Given the description of an element on the screen output the (x, y) to click on. 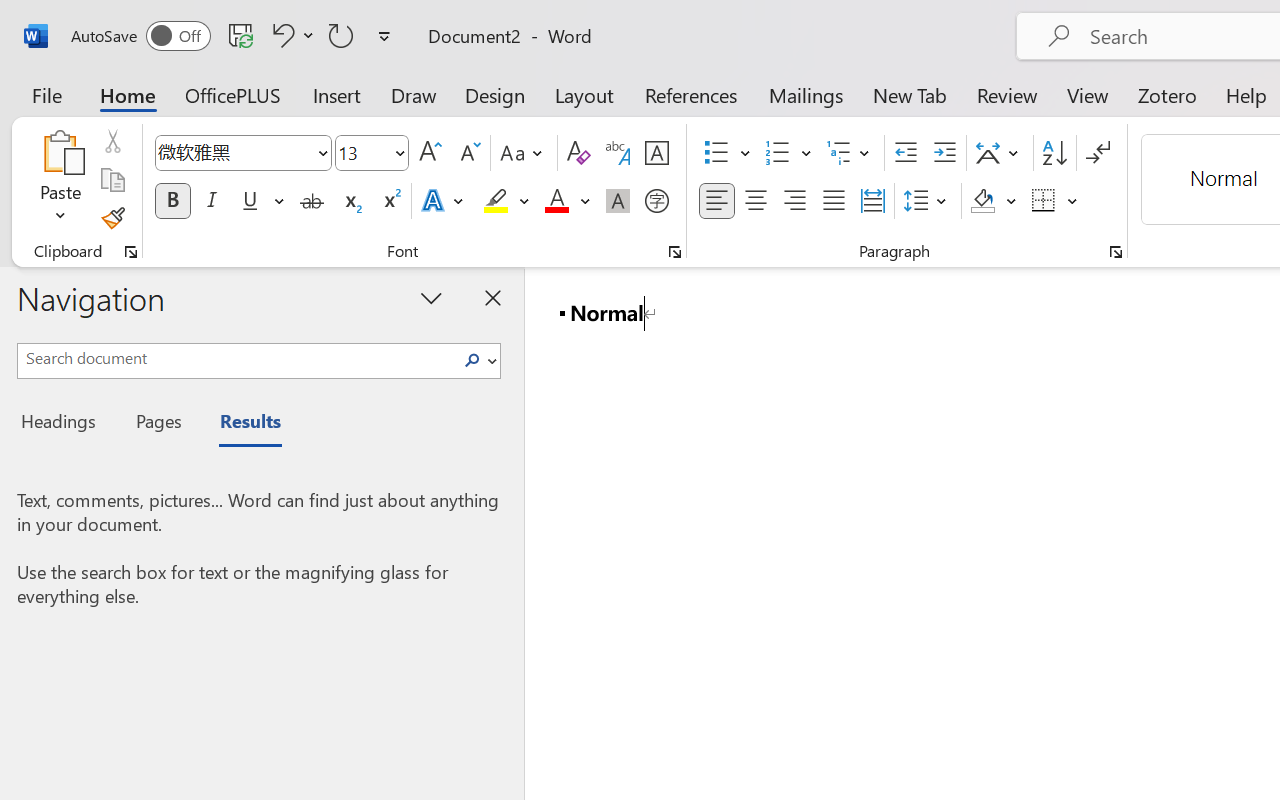
Increase Indent (944, 153)
AutoSave (140, 35)
Distributed (872, 201)
Font Color (567, 201)
References (690, 94)
Font Color Red (556, 201)
New Tab (909, 94)
OfficePLUS (233, 94)
Search document (236, 358)
File Tab (46, 94)
Shading RGB(0, 0, 0) (982, 201)
Zotero (1166, 94)
Mailings (806, 94)
Text Effects and Typography (444, 201)
